Given the description of an element on the screen output the (x, y) to click on. 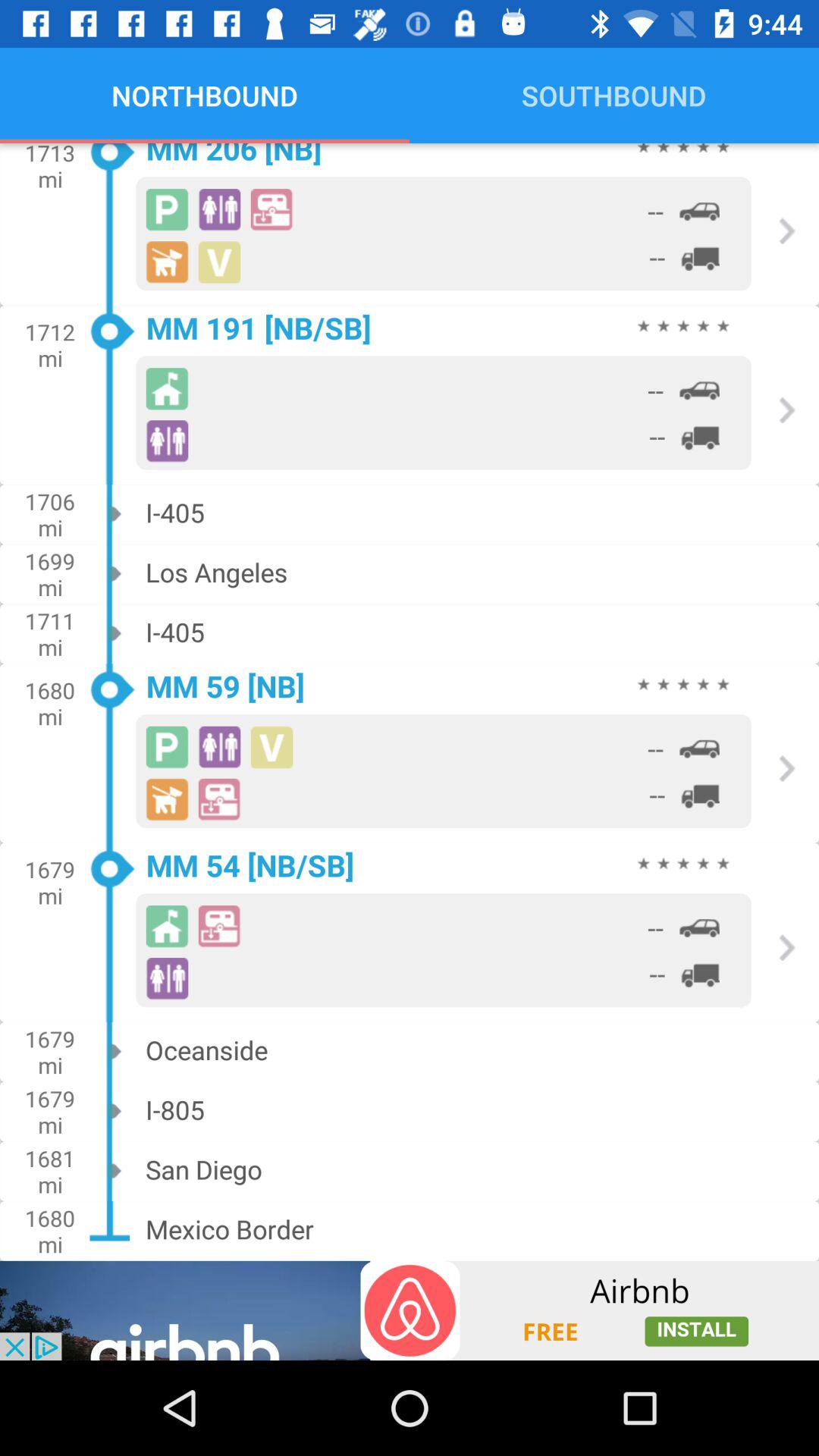
select the box above mm 191 nbsb (443, 232)
